Given the description of an element on the screen output the (x, y) to click on. 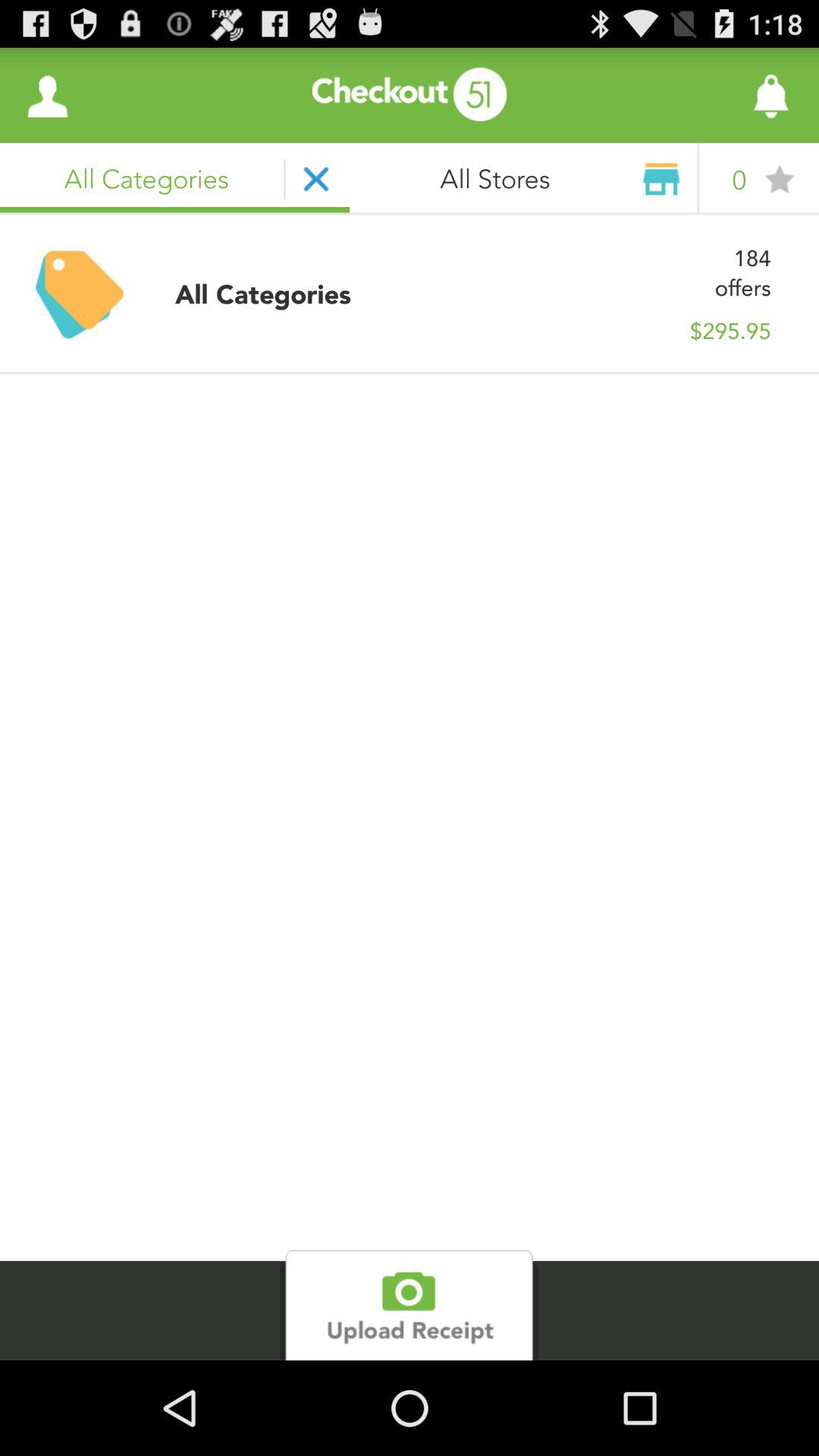
add reminder (729, 95)
